Given the description of an element on the screen output the (x, y) to click on. 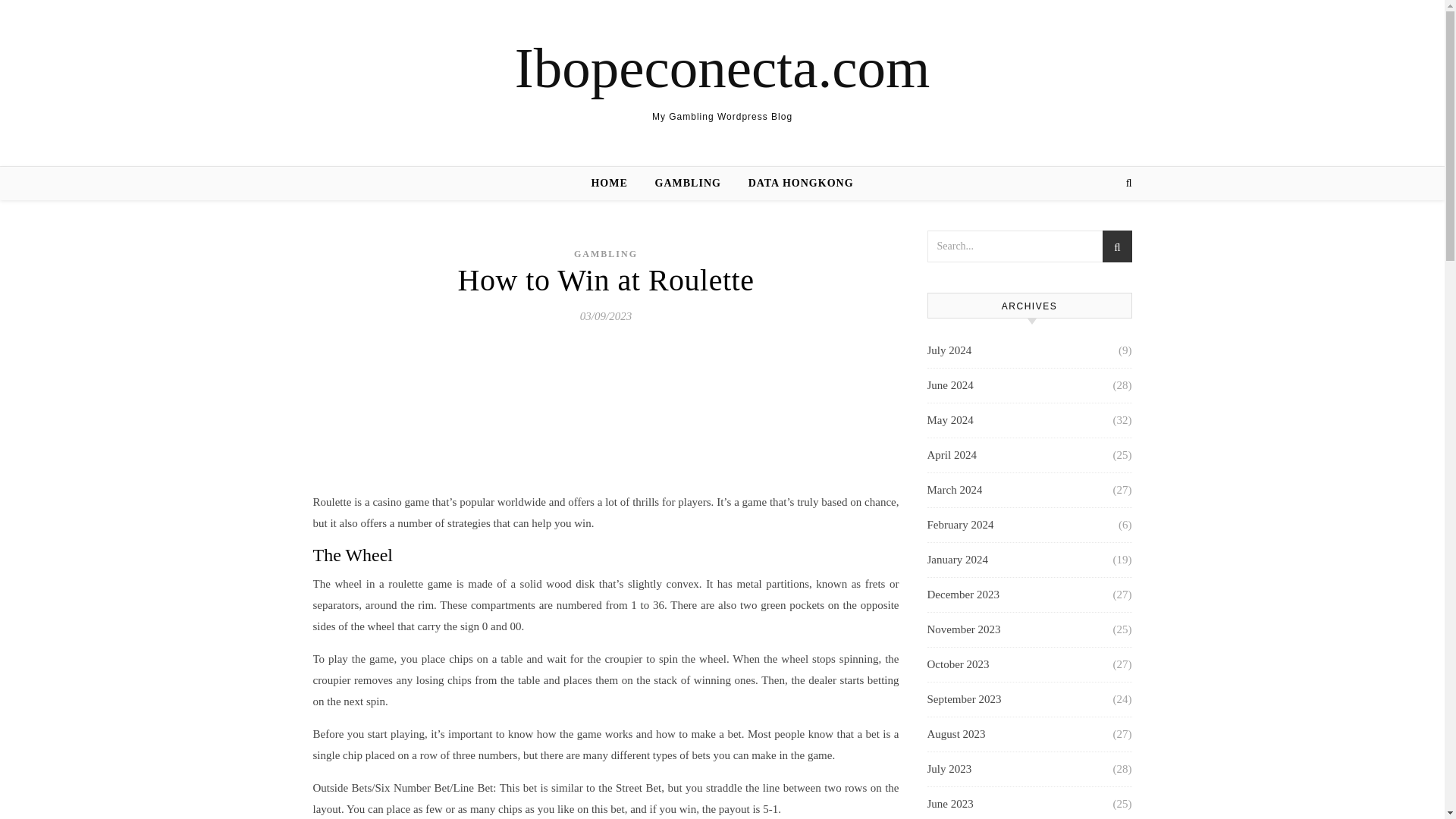
October 2023 (957, 664)
September 2023 (963, 699)
GAMBLING (605, 253)
July 2024 (948, 350)
June 2024 (949, 385)
Ibopeconecta.com (722, 67)
November 2023 (963, 629)
March 2024 (953, 489)
January 2024 (956, 559)
July 2023 (948, 769)
December 2023 (962, 594)
February 2024 (959, 524)
May 2024 (949, 420)
st (1115, 248)
August 2023 (955, 734)
